Given the description of an element on the screen output the (x, y) to click on. 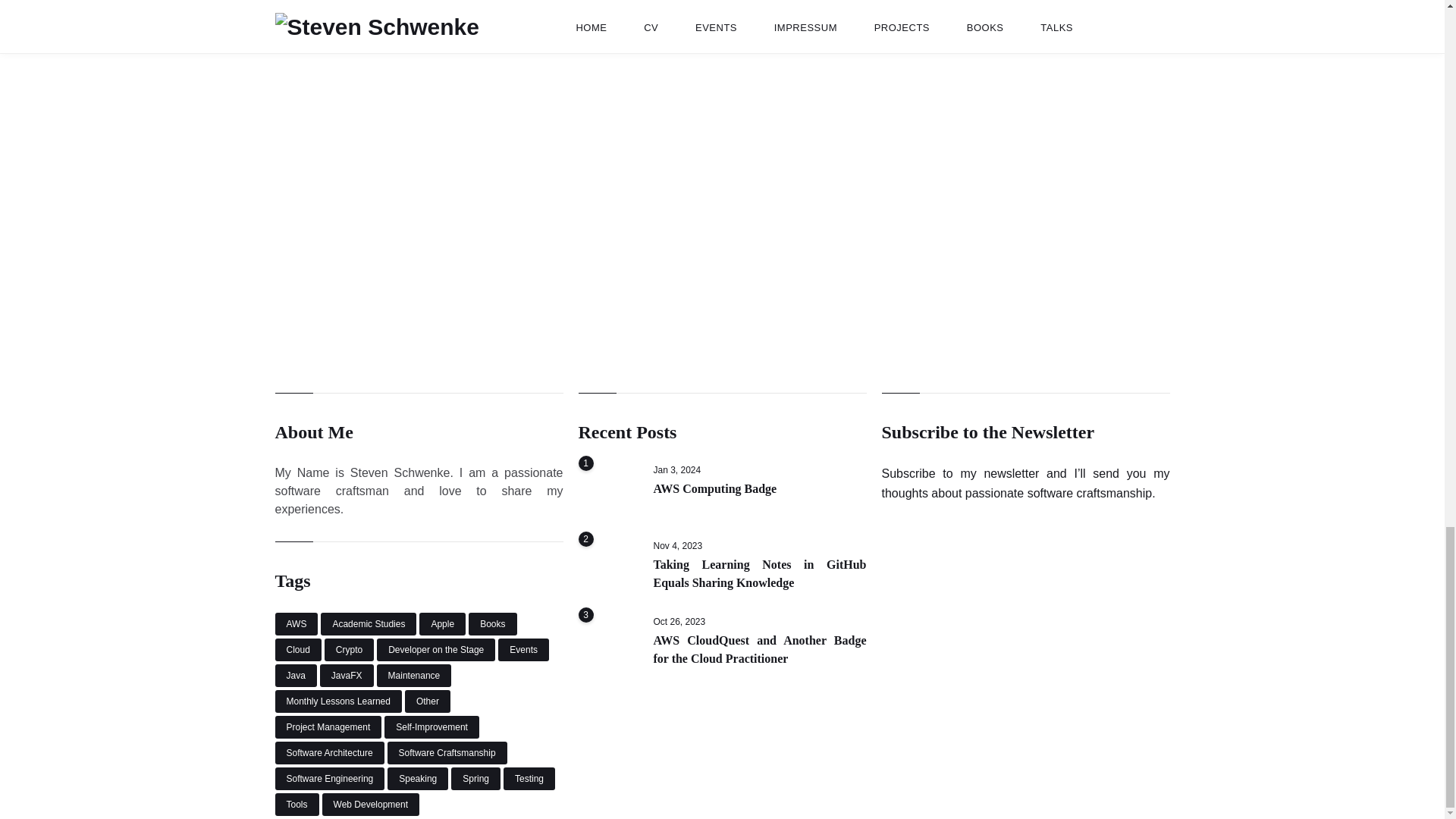
AWS (296, 623)
Apple (442, 623)
Academic Studies (368, 623)
